Given the description of an element on the screen output the (x, y) to click on. 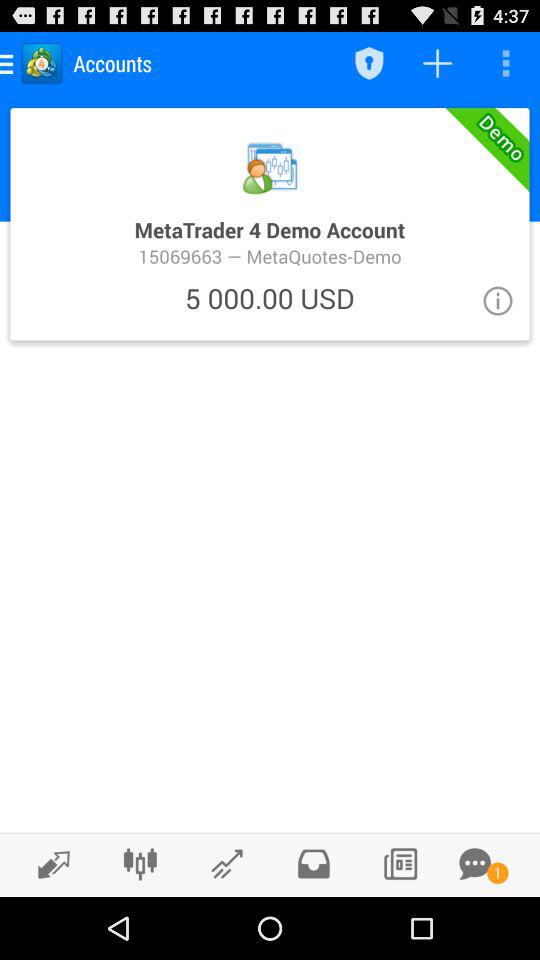
file option (313, 863)
